Given the description of an element on the screen output the (x, y) to click on. 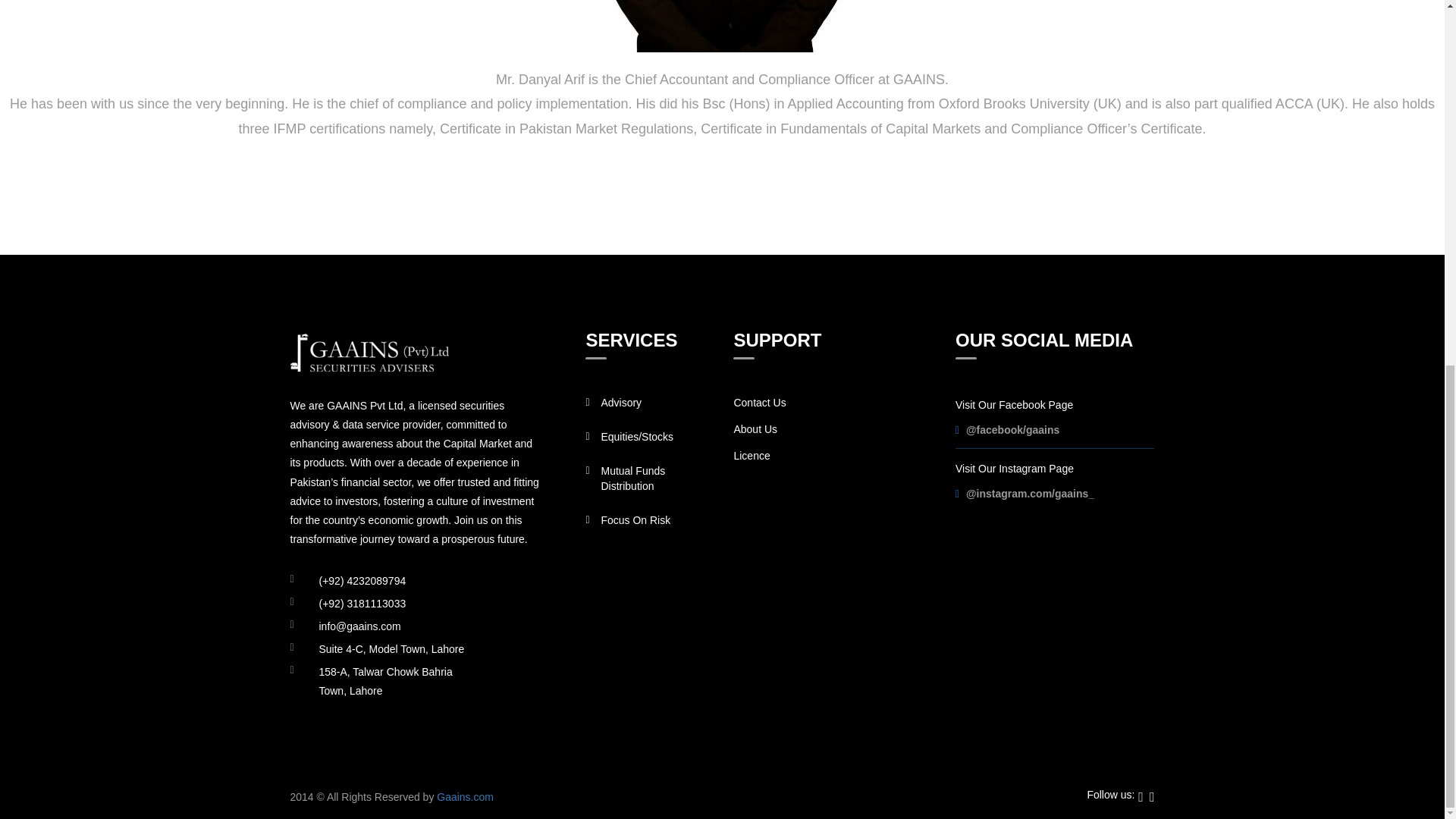
Advisory (620, 402)
Mutual Funds Distribution (632, 478)
